Given the description of an element on the screen output the (x, y) to click on. 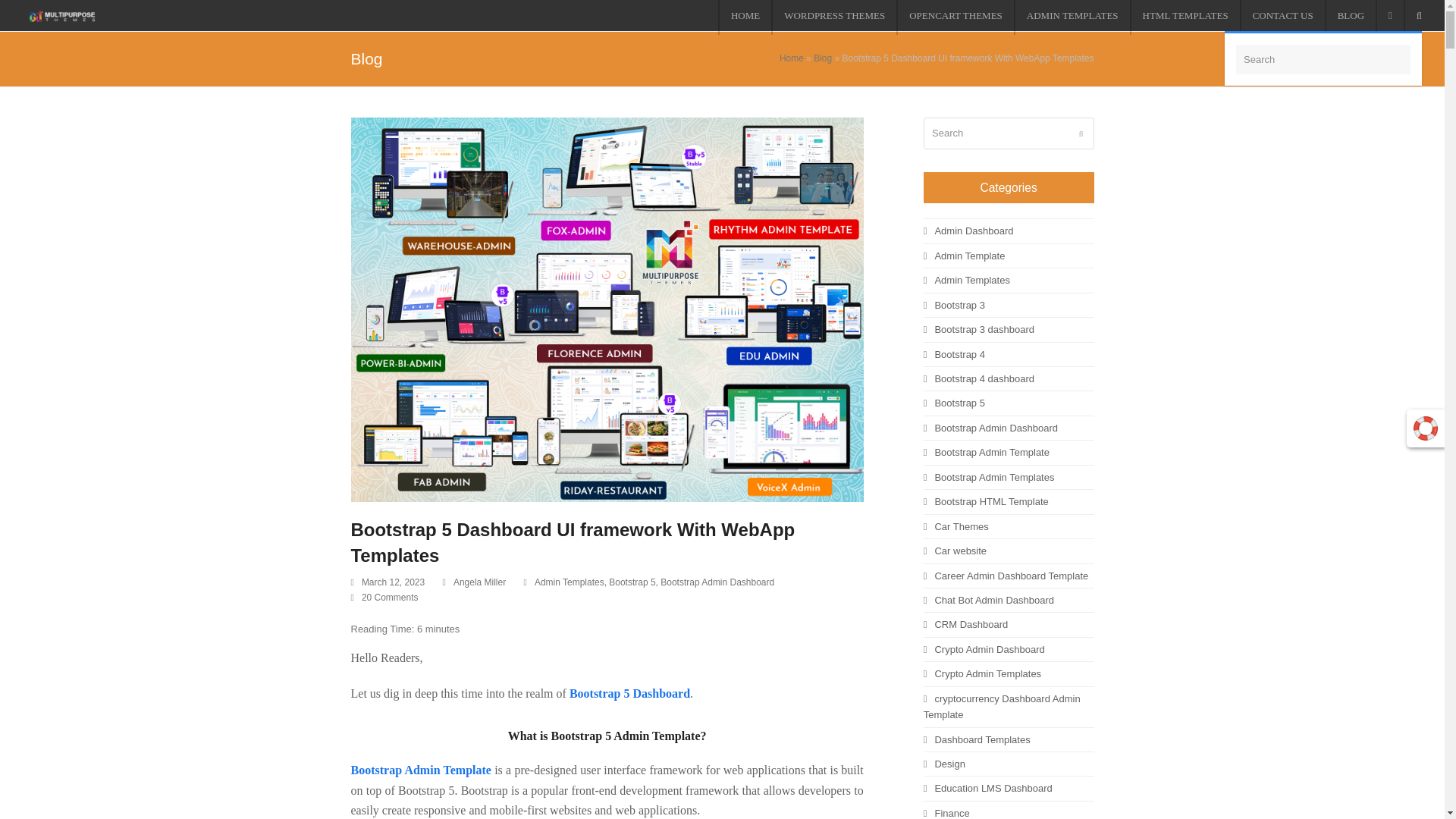
WORDPRESS THEMES (833, 17)
Bootstrap Admin Dashboard (717, 582)
BLOG (1349, 17)
20 Comments (390, 597)
Angela Miller (478, 582)
Bootstrap 5 (631, 582)
Home (790, 58)
Bootstrap 5 Dashboard (629, 693)
ADMIN TEMPLATES (1071, 17)
HOME (744, 17)
HTML TEMPLATES (1184, 17)
Admin Templates (569, 582)
CONTACT US (1282, 17)
OPENCART THEMES (954, 17)
Blog (822, 58)
